Given the description of an element on the screen output the (x, y) to click on. 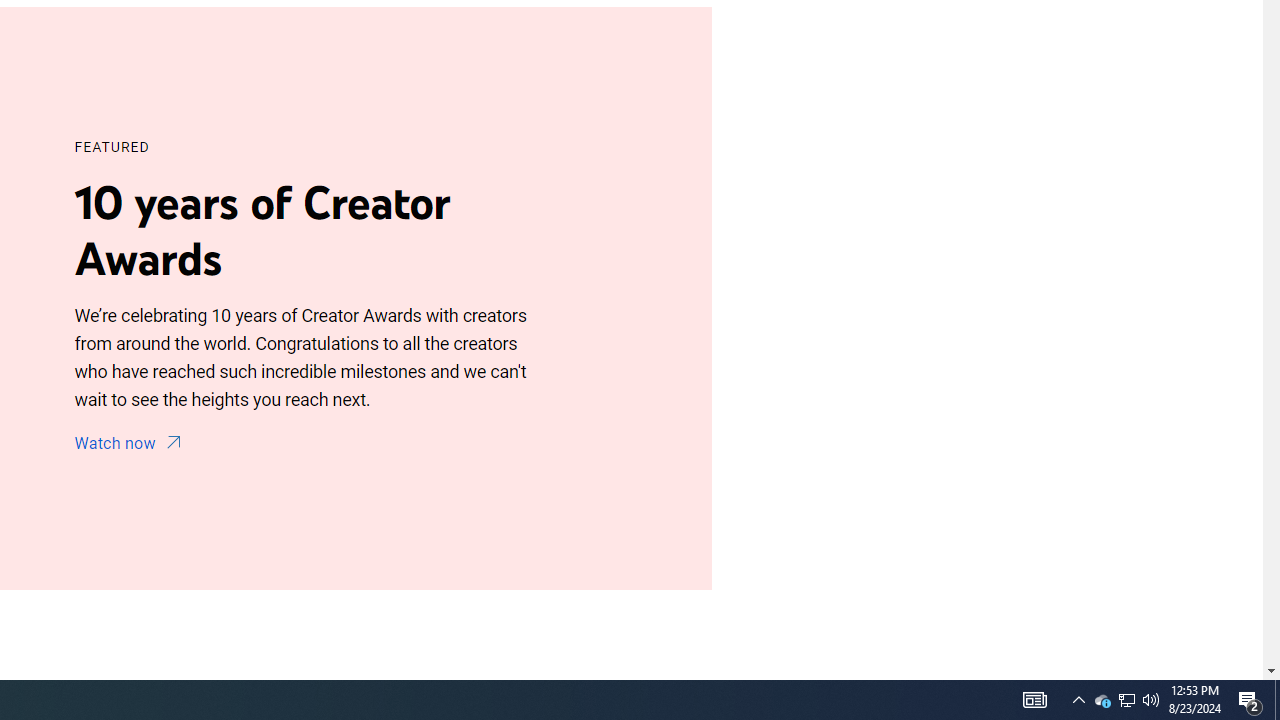
Watch now (131, 444)
